Given the description of an element on the screen output the (x, y) to click on. 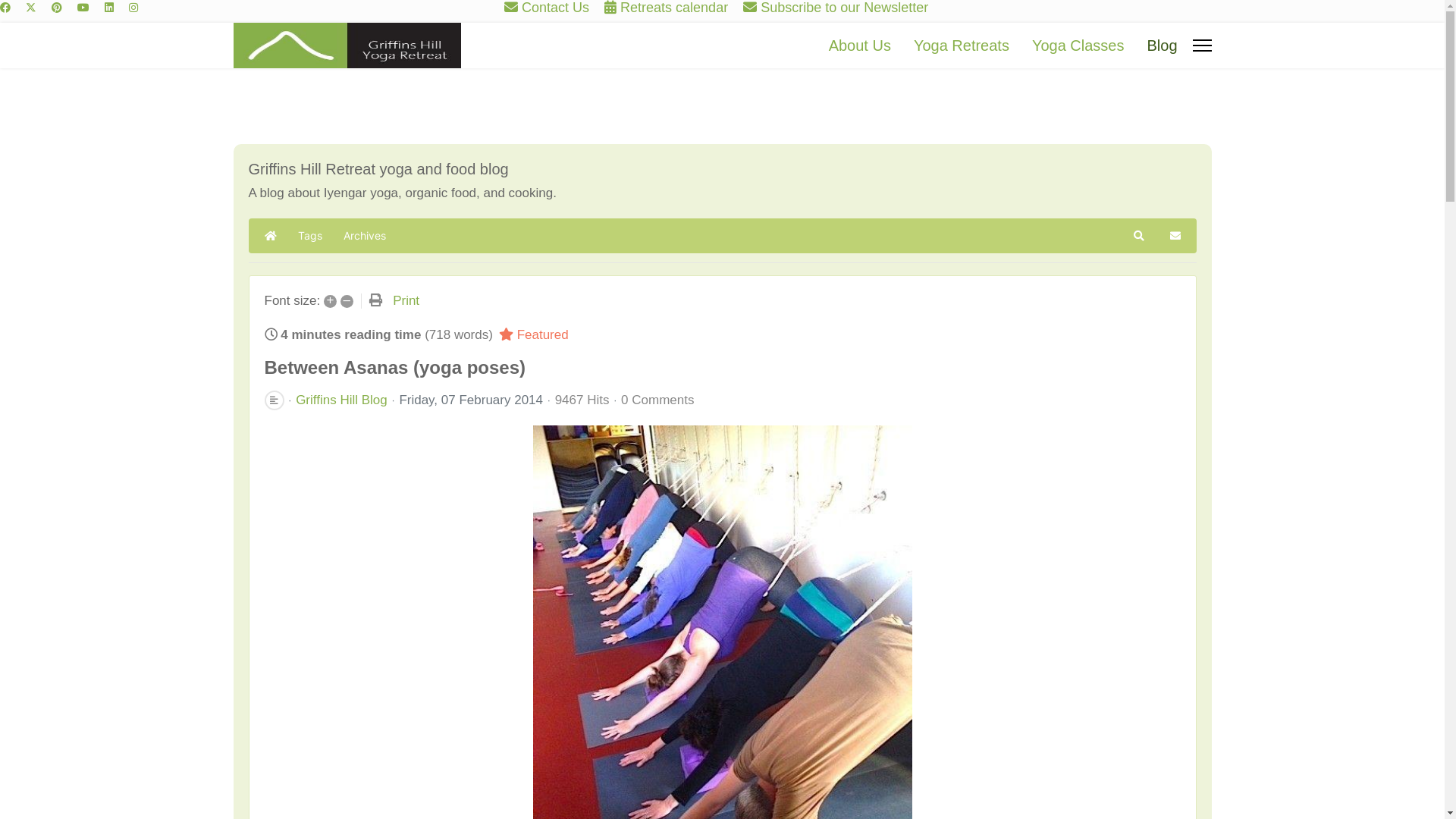
0 Comments Element type: text (657, 399)
Blog Element type: text (1161, 45)
Subscribe to our Newsletter Element type: text (844, 7)
Tags Element type: text (310, 235)
Print Element type: text (405, 300)
Search Element type: text (1138, 235)
Yoga Classes Element type: text (1077, 45)
+ Element type: text (329, 300)
Contact Us Element type: text (555, 7)
About Us Element type: text (859, 45)
Subscribe to blog Element type: text (1175, 235)
Griffins Hill Blog Element type: text (341, 400)
Retreats calendar Element type: text (674, 7)
Yoga Retreats Element type: text (961, 45)
Home Element type: text (270, 235)
Menu Element type: hover (1201, 45)
Archives Element type: text (364, 235)
